Given the description of an element on the screen output the (x, y) to click on. 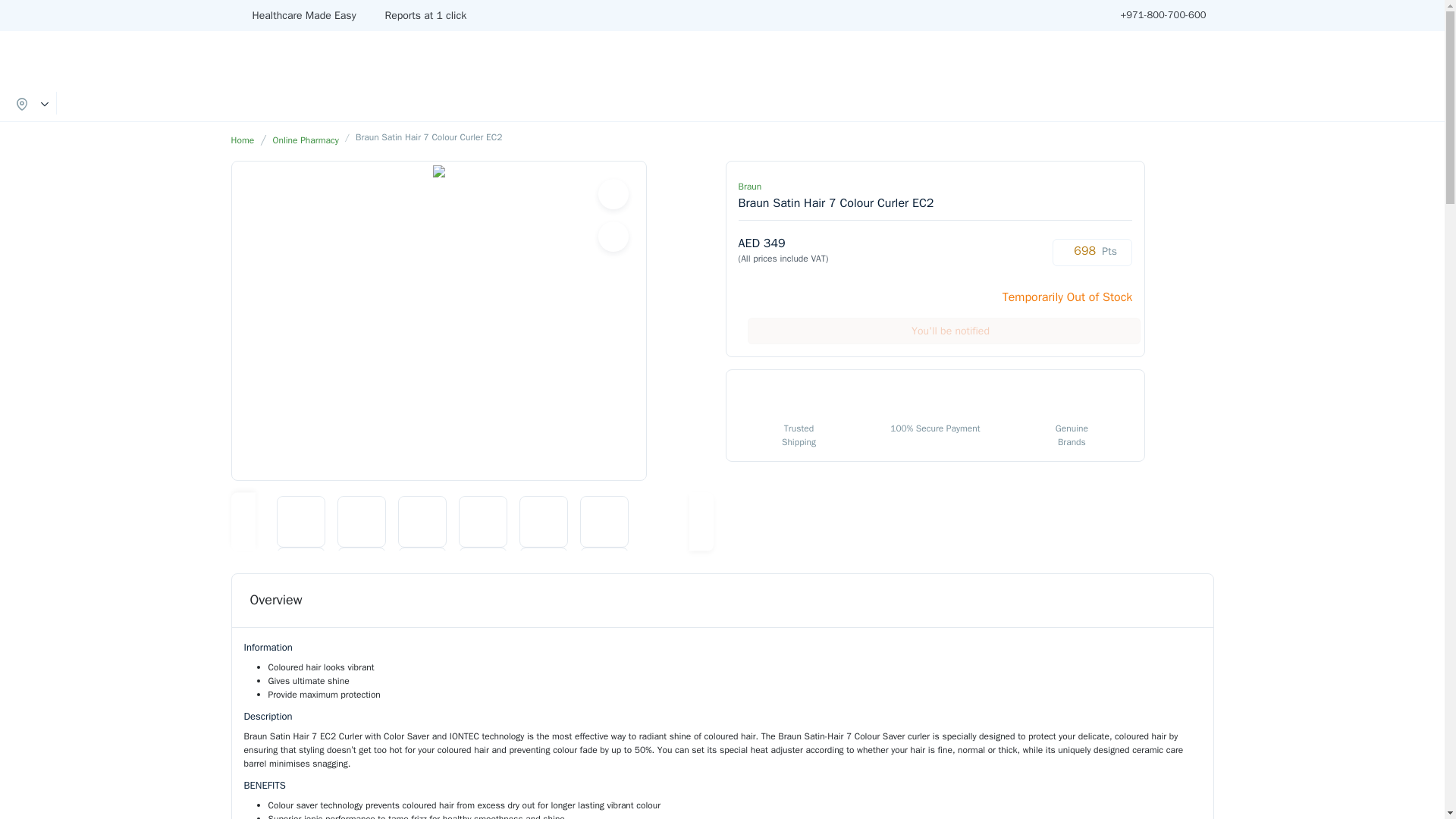
Braun Satin Hair 7 Colour Curler EC2 (300, 573)
You'll be notified (944, 330)
Braun Satin Hair 7 Colour Curler EC2 (421, 522)
Braun Satin Hair 7 Colour Curler EC2 (482, 522)
Braun Satin Hair 7 Colour Curler EC2 (482, 573)
Braun Satin Hair 7 Colour Curler EC2 (360, 522)
Braun Satin Hair 7 Colour Curler EC2 (603, 522)
Braun (749, 186)
Braun Satin Hair 7 Colour Curler EC2 (542, 573)
Braun Satin Hair 7 Colour Curler EC2 (421, 573)
